Given the description of an element on the screen output the (x, y) to click on. 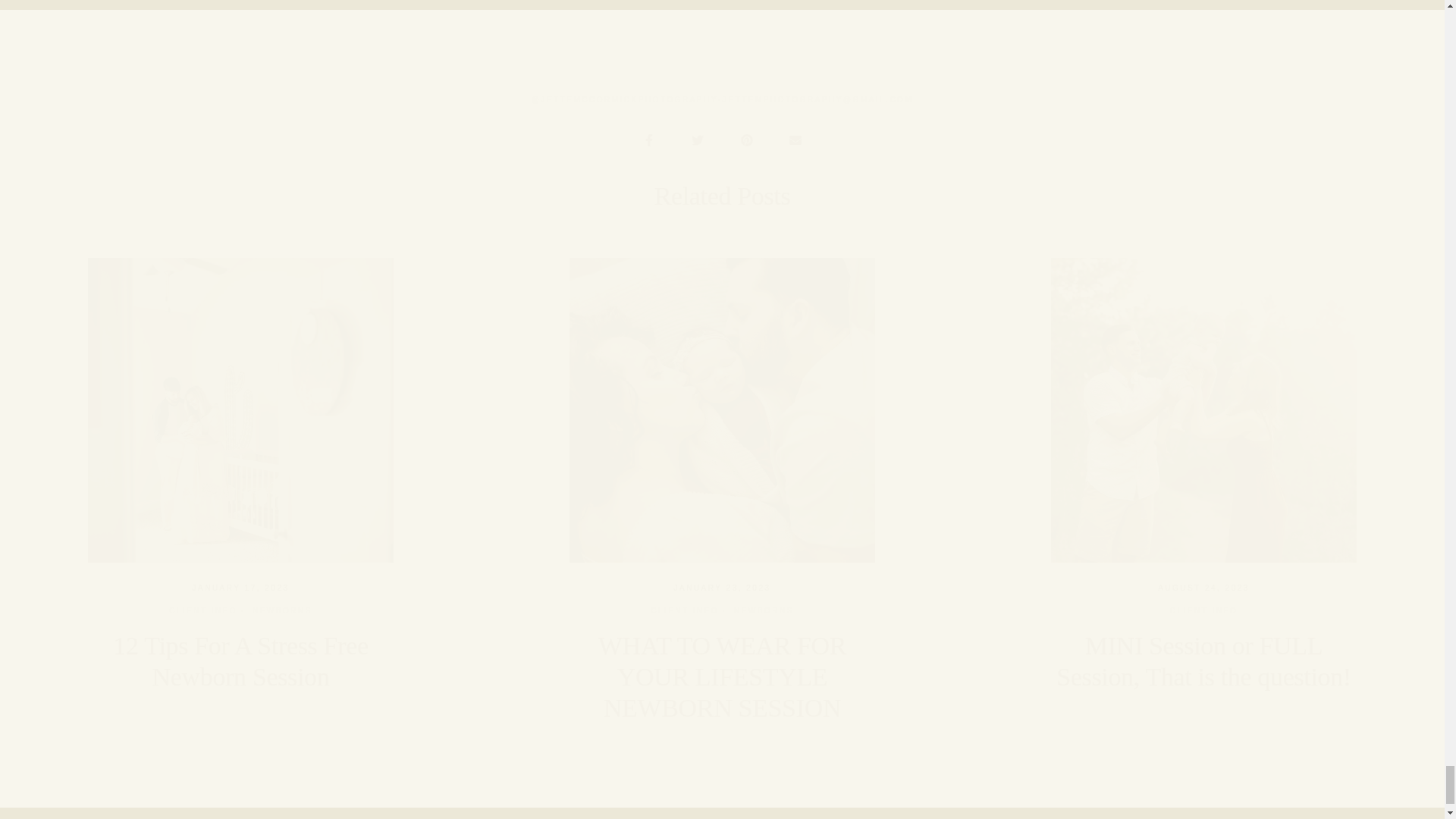
NEWBORNS (282, 610)
NEWBORNS (763, 610)
